Given the description of an element on the screen output the (x, y) to click on. 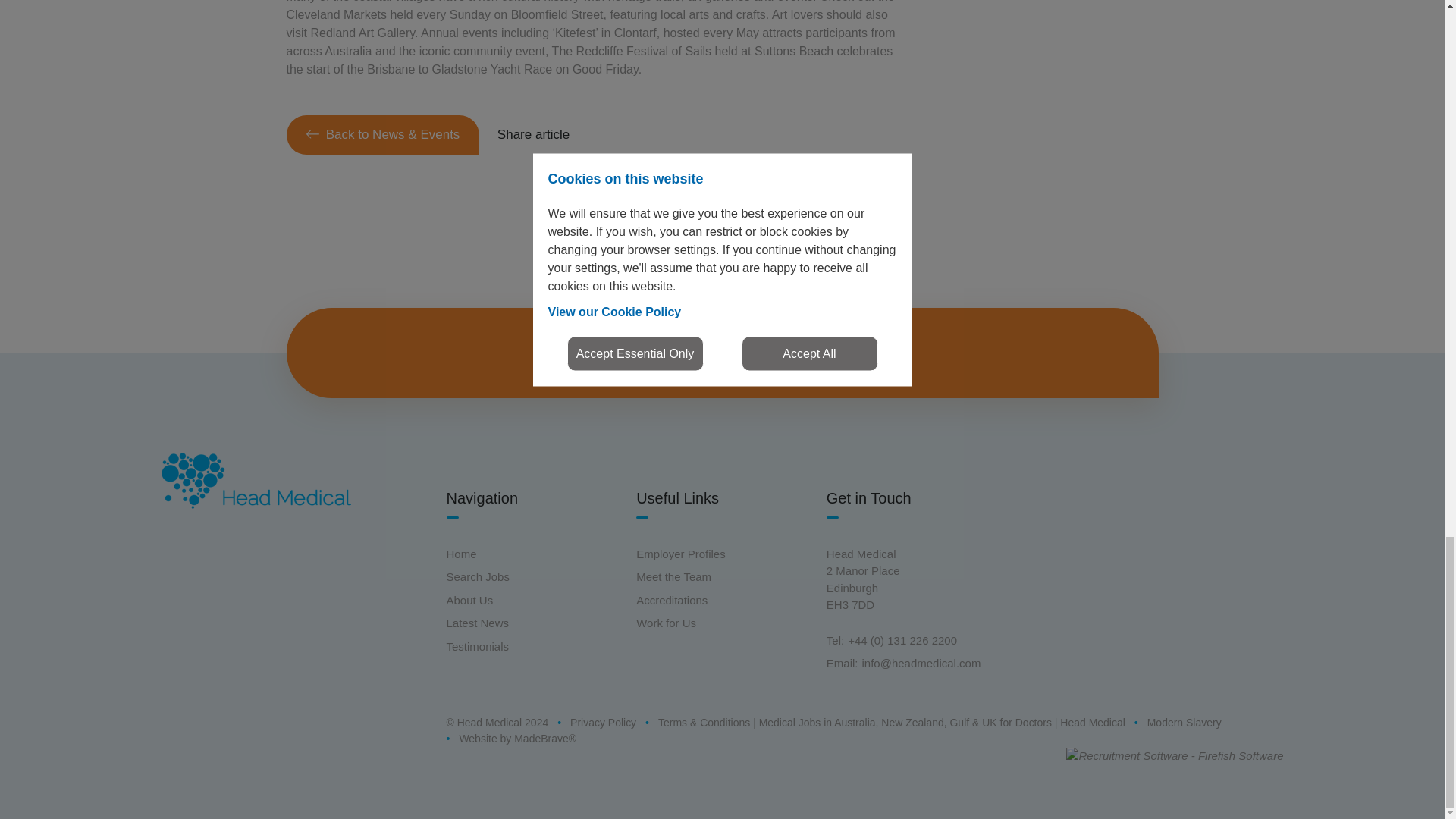
Recruitment Software - Firefish Software (1173, 754)
Telephone (834, 640)
Head Medical (255, 480)
